Given the description of an element on the screen output the (x, y) to click on. 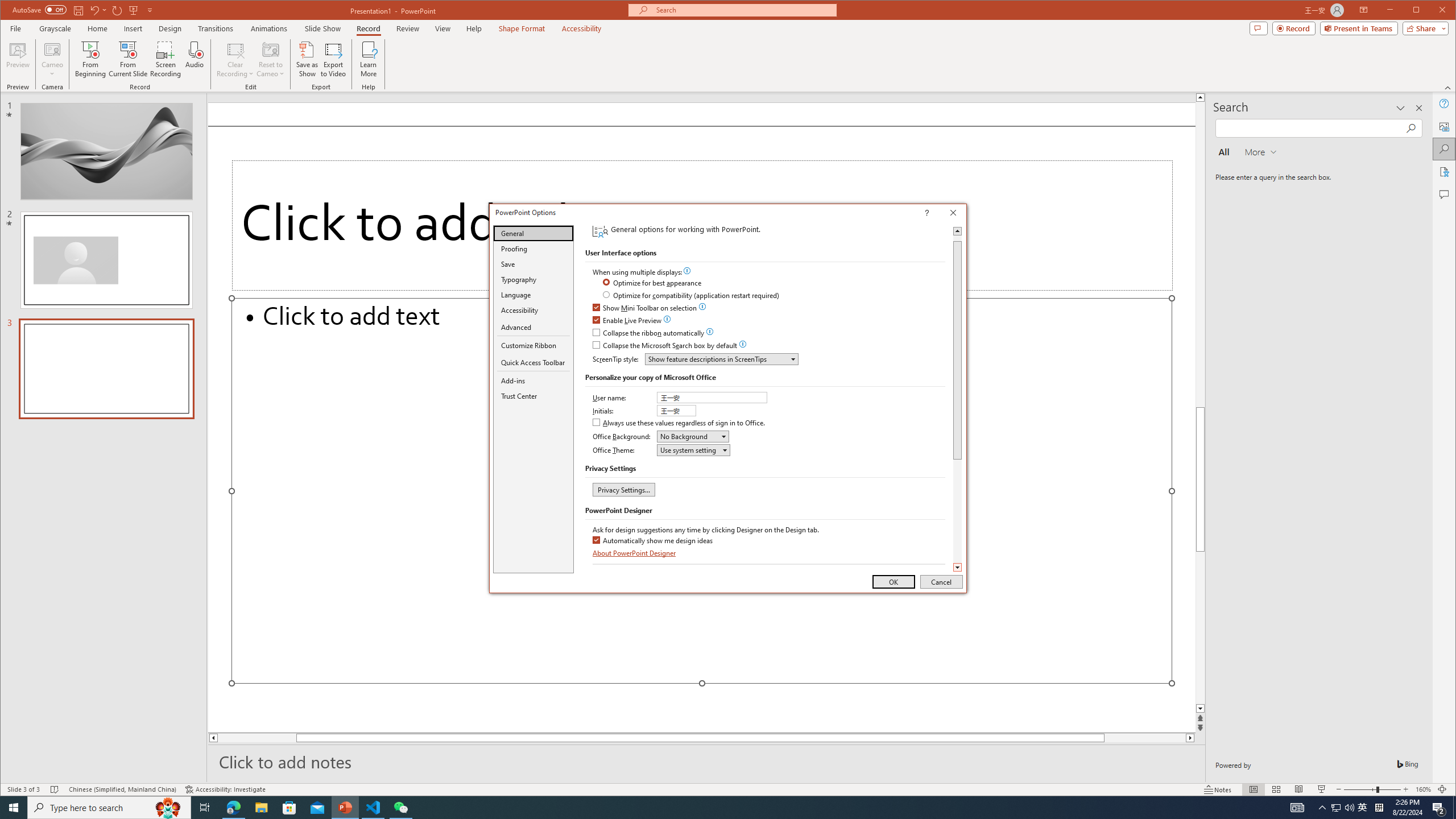
Save as Show (307, 59)
Proofing (533, 248)
